Given the description of an element on the screen output the (x, y) to click on. 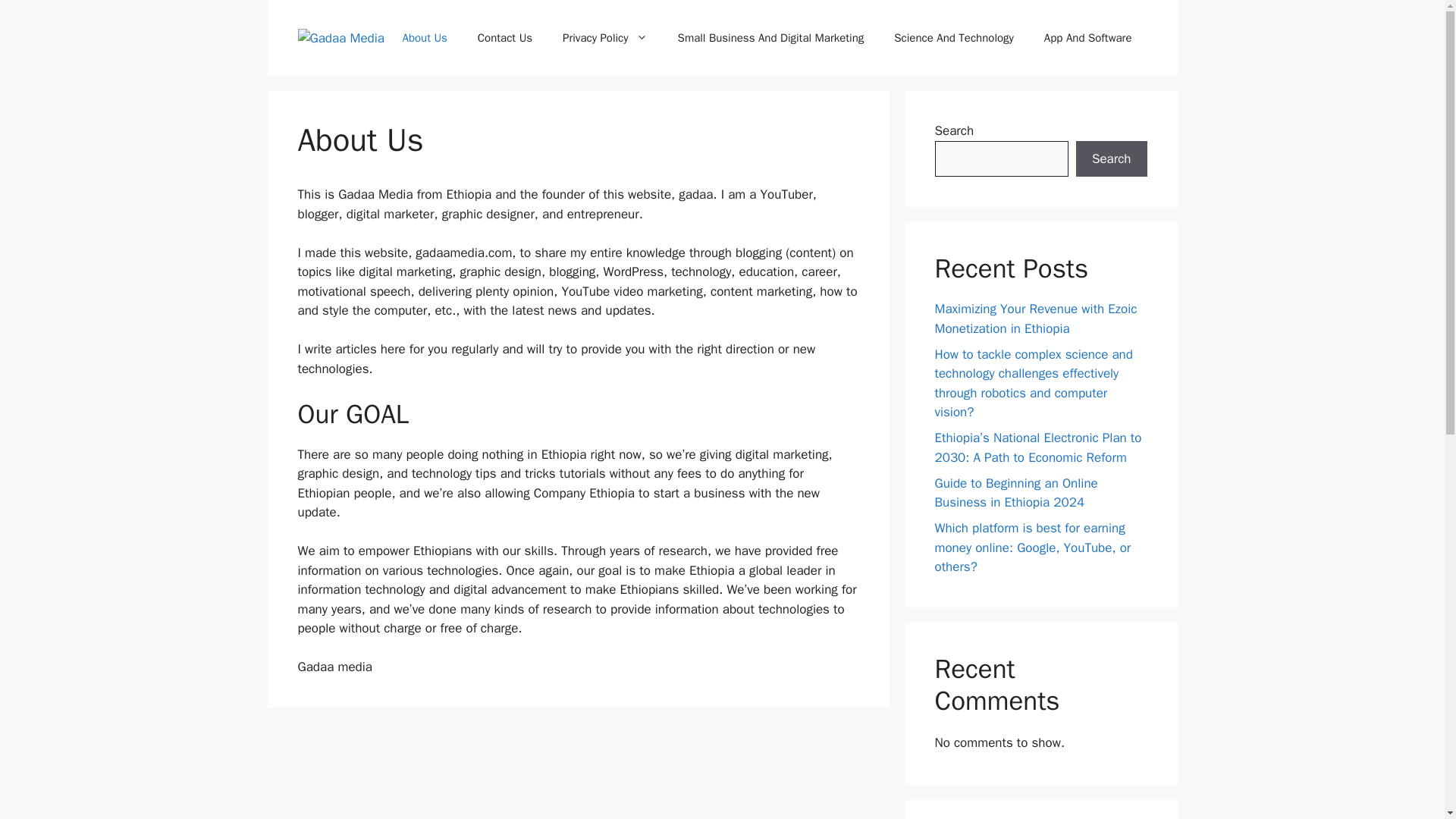
Small Business And Digital Marketing (770, 37)
Guide to Beginning an Online Business in Ethiopia 2024 (1015, 492)
Maximizing Your Revenue with Ezoic Monetization in Ethiopia (1035, 318)
Contact Us (505, 37)
Science And Technology (954, 37)
App And Software (1088, 37)
Privacy Policy (604, 37)
Search (1111, 158)
About Us (424, 37)
